Given the description of an element on the screen output the (x, y) to click on. 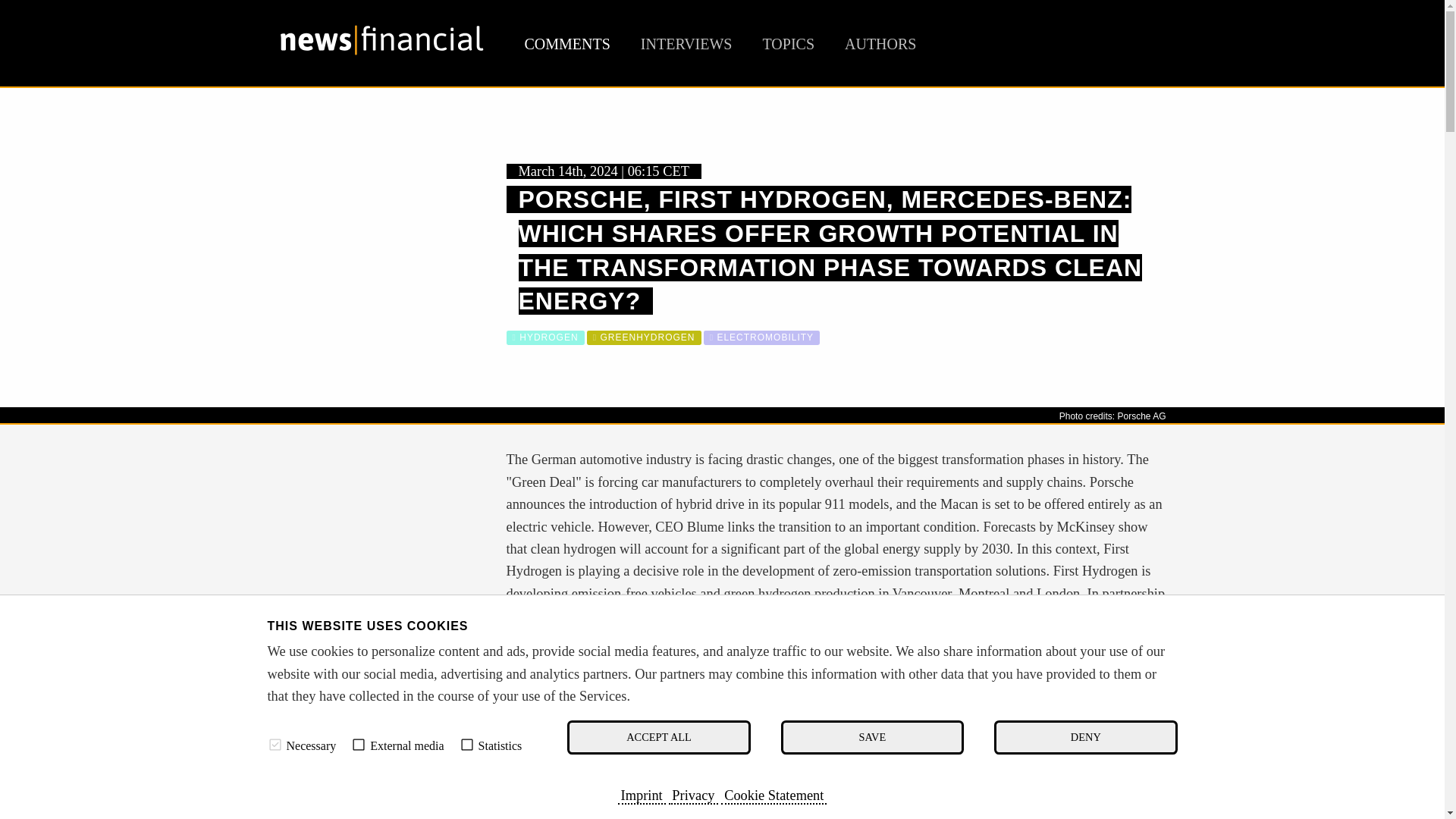
Cookie Statement (773, 795)
SAVE (871, 737)
Juliane Zielonka (747, 694)
Imprint (641, 795)
ACCEPT ALL (658, 737)
AUTHORS (879, 44)
DENY (1085, 737)
TOPICS (787, 44)
Privacy (692, 795)
COMMENTS (566, 44)
INTERVIEWS (686, 44)
